Given the description of an element on the screen output the (x, y) to click on. 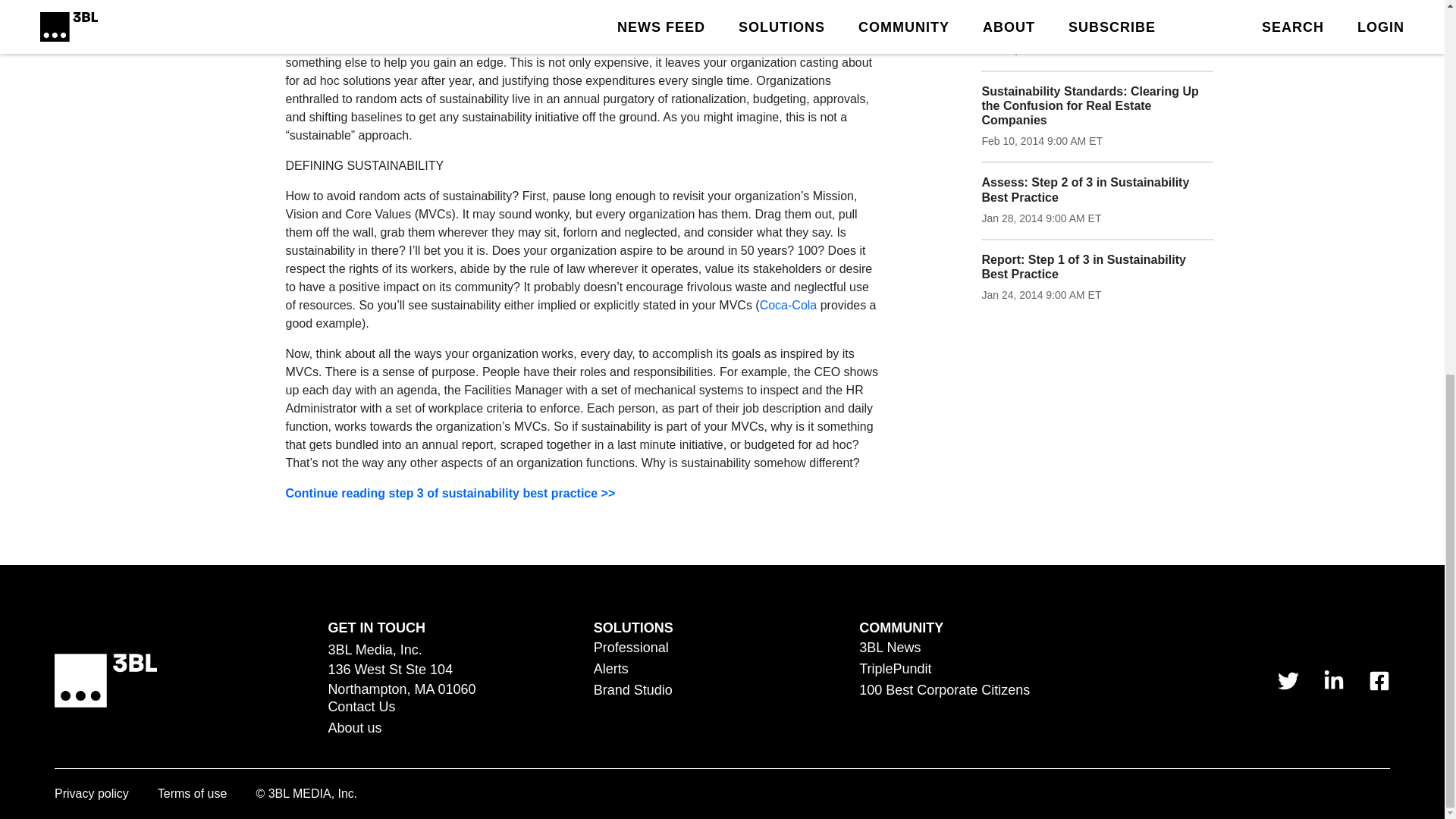
link to 3 B L Media's Twitter (1288, 680)
link to 3 B L Media's Facebook (1379, 680)
link to 3 B L Media's Linkedin (1333, 680)
